Given the description of an element on the screen output the (x, y) to click on. 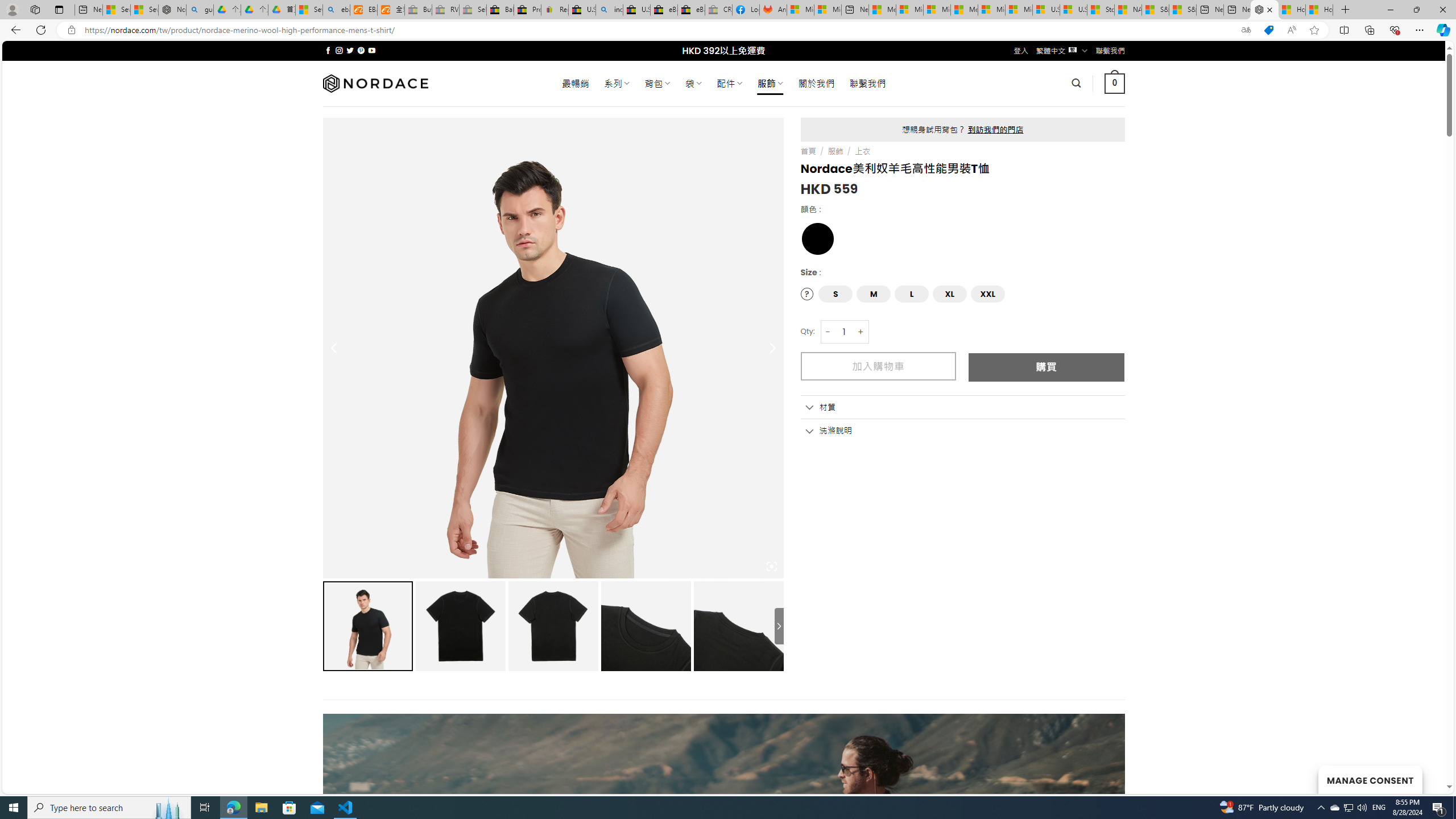
Follow on Instagram (338, 50)
including - Search (609, 9)
